Given the description of an element on the screen output the (x, y) to click on. 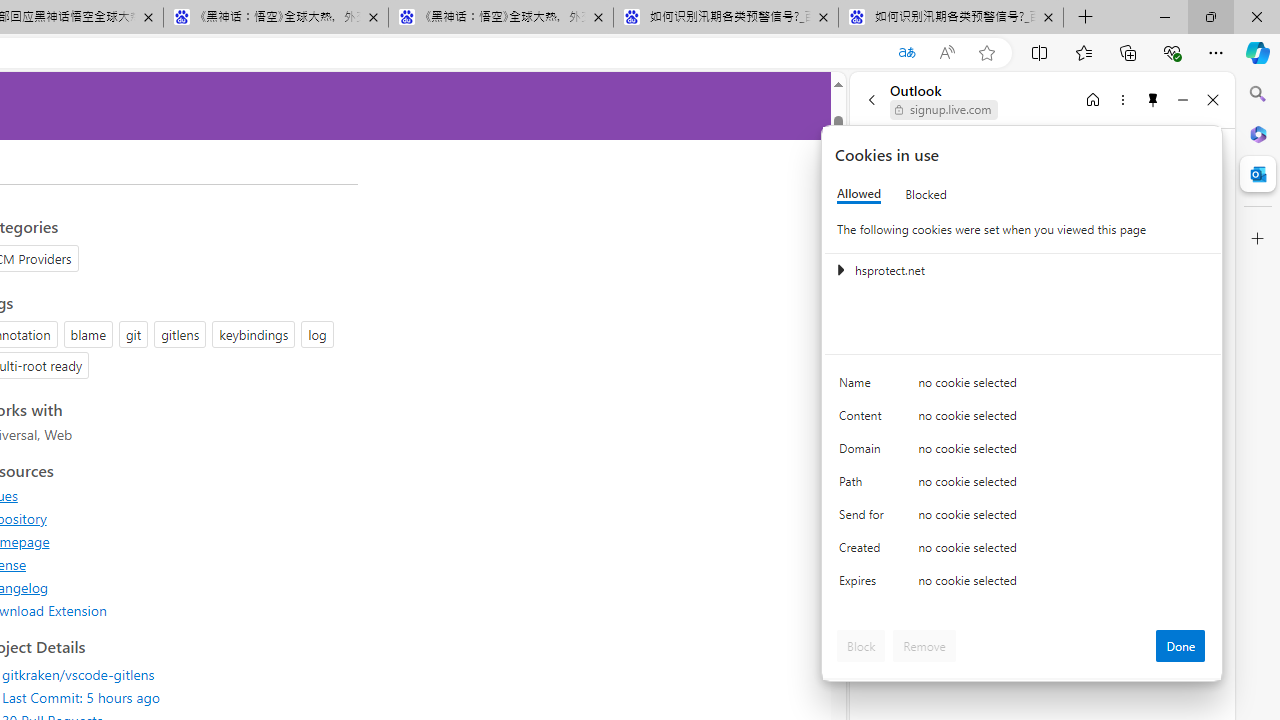
Name (864, 387)
Expires (864, 585)
Send for (864, 518)
Path (864, 485)
Done (1179, 645)
signup.live.com (943, 110)
